Given the description of an element on the screen output the (x, y) to click on. 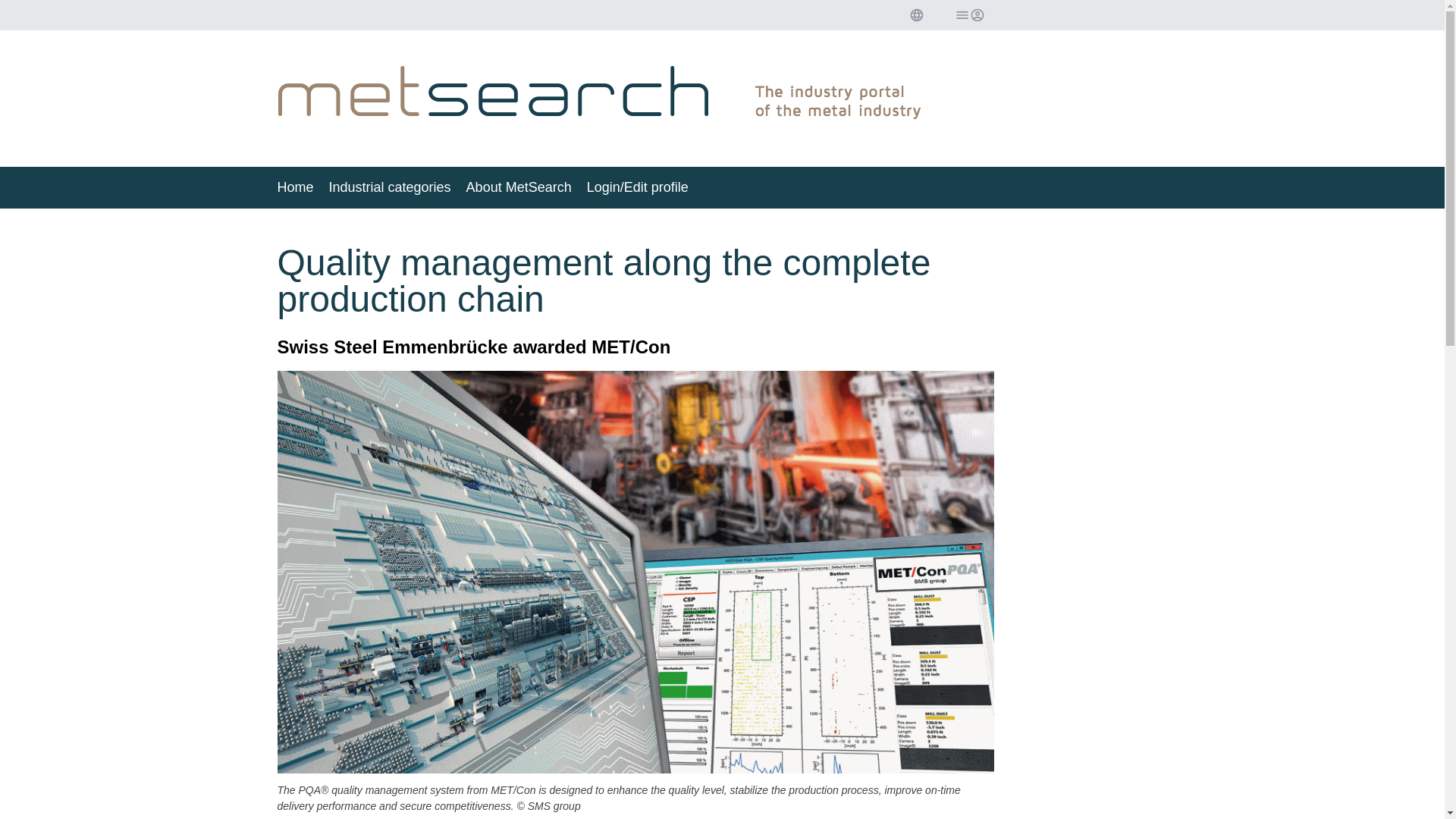
About MetSearch (518, 186)
ENGLISH (915, 14)
About MetSearch (518, 186)
Login (968, 14)
Industrial categories (390, 186)
Home (296, 186)
Industrial categories (390, 186)
Home (296, 186)
